Given the description of an element on the screen output the (x, y) to click on. 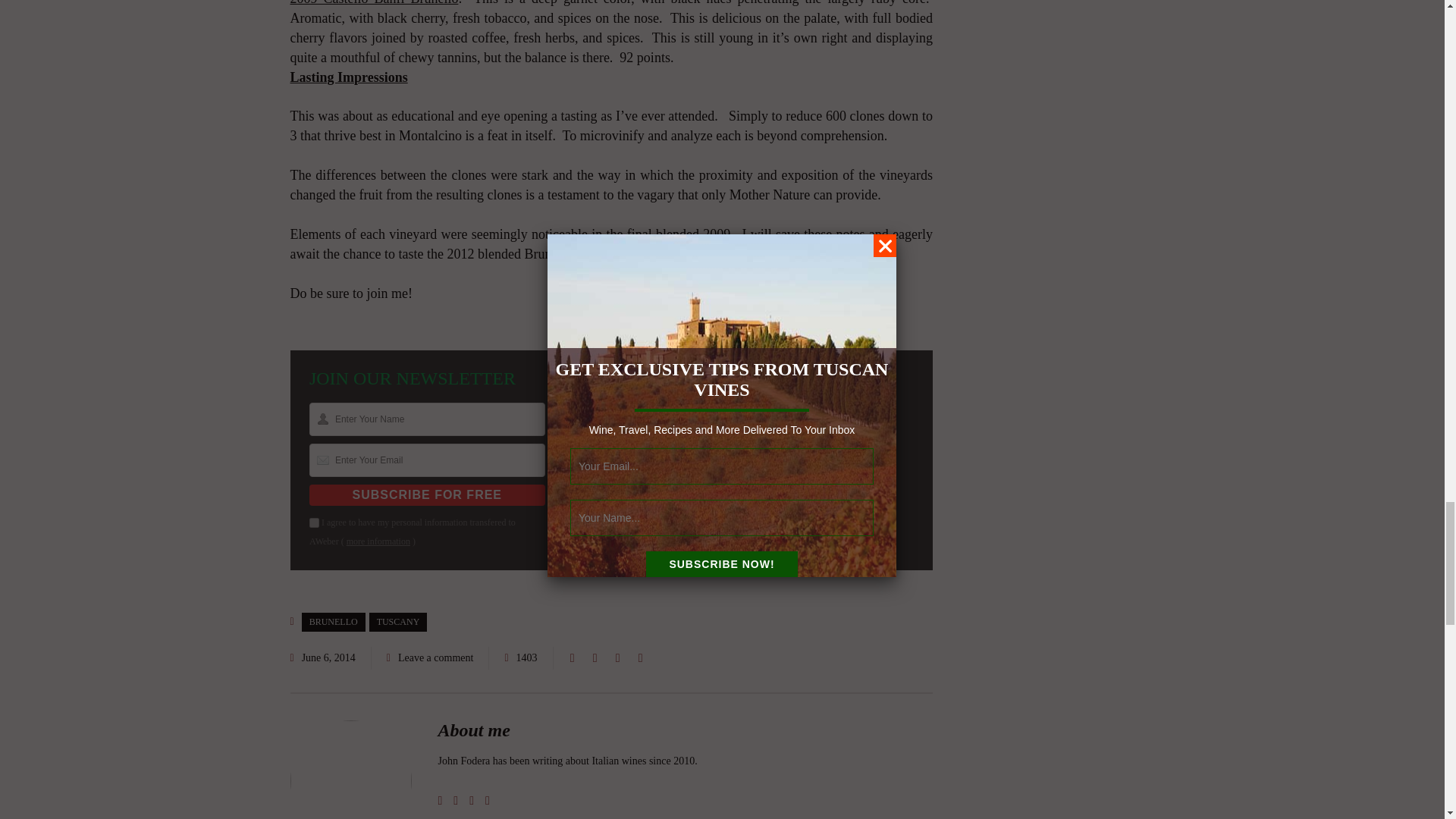
SUBSCRIBE FOR FREE (426, 495)
Post comments (430, 658)
Leave a comment (435, 657)
Share with Google Plus (617, 658)
Share this (571, 658)
SUBSCRIBE FOR FREE (426, 495)
BRUNELLO (333, 621)
Tweet this (595, 658)
more information (378, 541)
TUSCANY (398, 621)
on (313, 522)
Post views (521, 658)
